Given the description of an element on the screen output the (x, y) to click on. 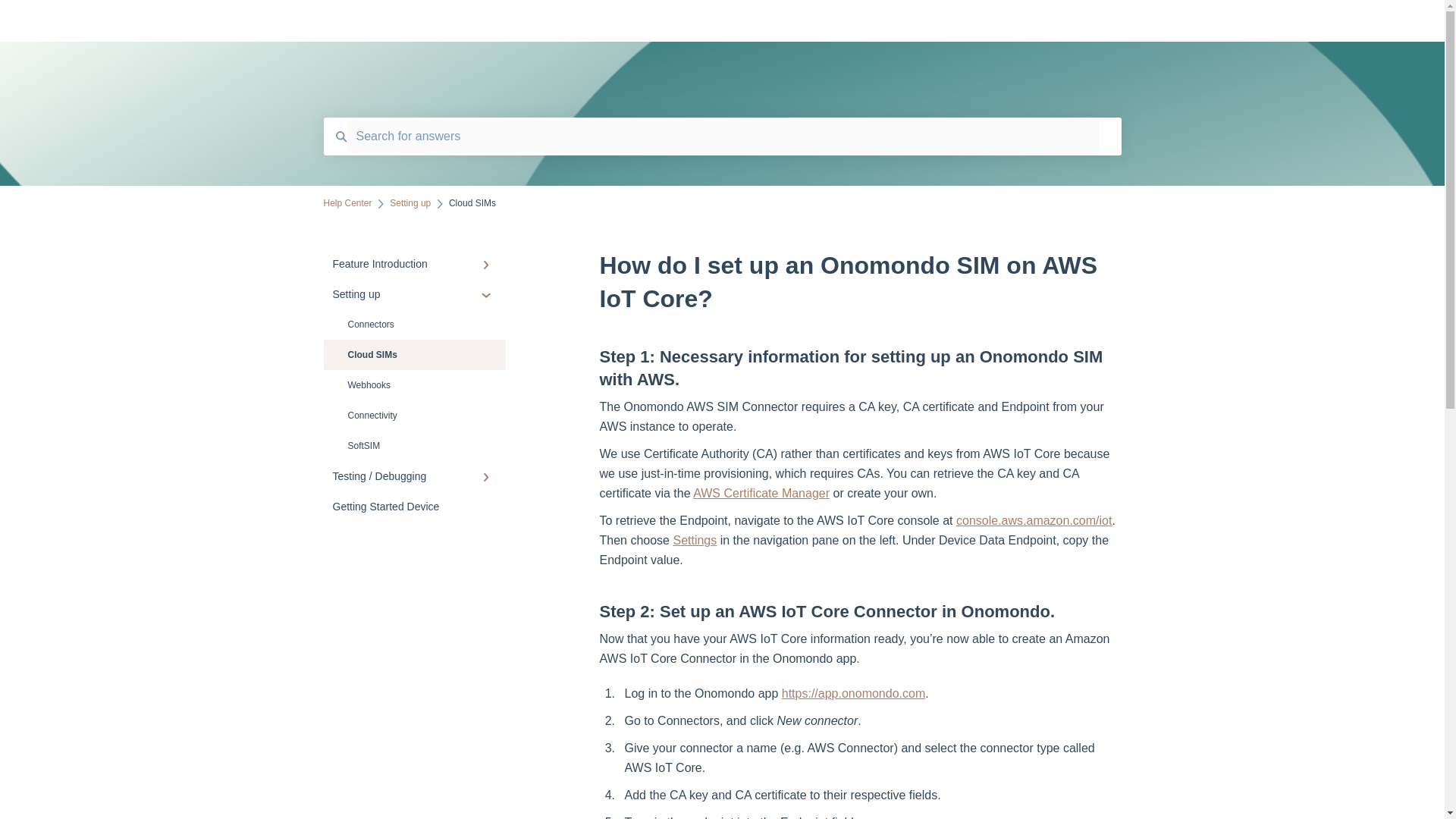
AWS Certificate Manager (761, 492)
Connectivity (414, 415)
Help Center (737, 21)
Cloud SIMs (414, 354)
Getting Started Device (414, 506)
Connectors (414, 324)
Setting up (414, 294)
Setting up (410, 203)
Webhooks (414, 385)
Help Center (347, 203)
